Given the description of an element on the screen output the (x, y) to click on. 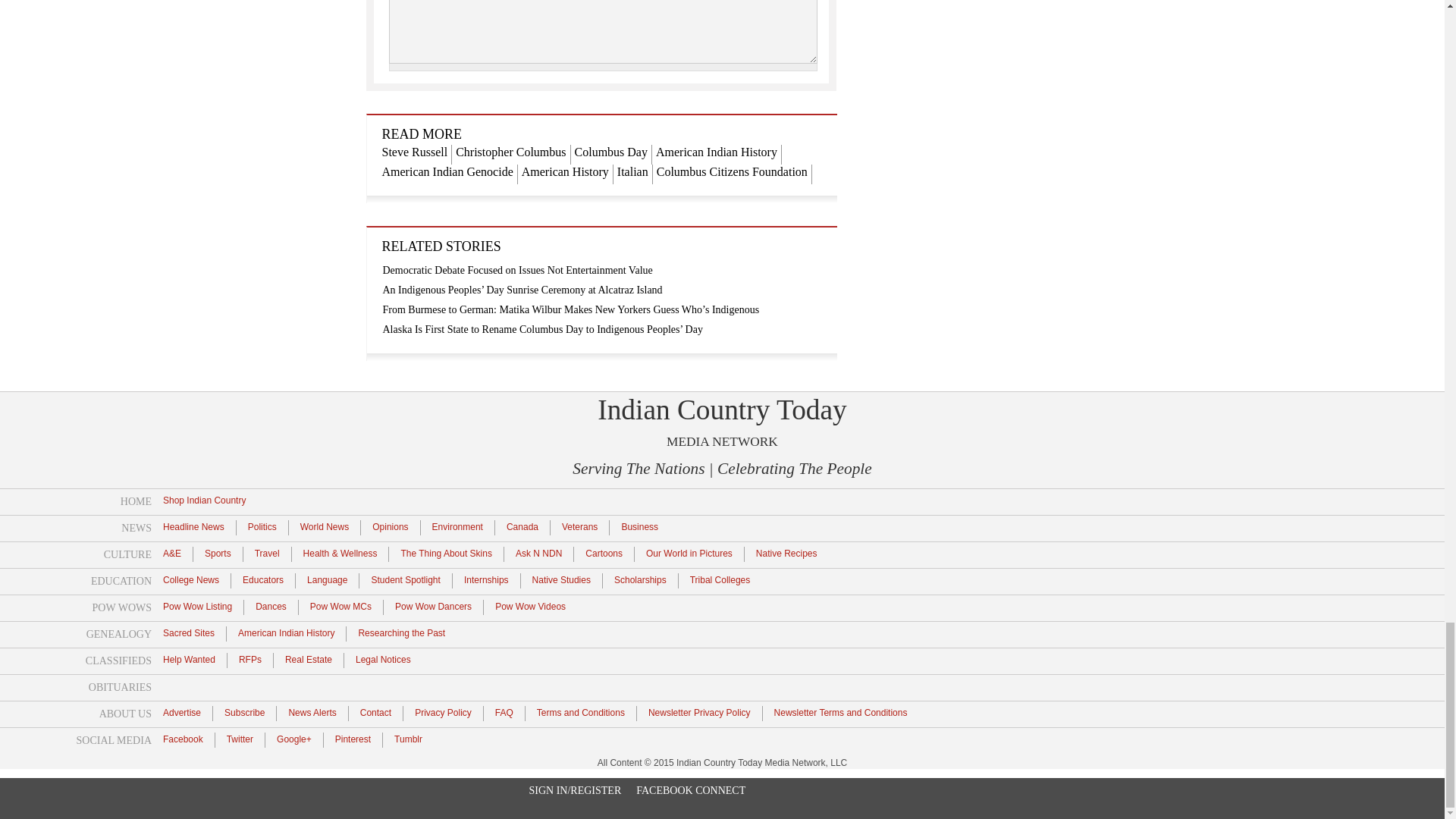
Terms and Conditions (580, 712)
Privacy Policy (442, 712)
